Given the description of an element on the screen output the (x, y) to click on. 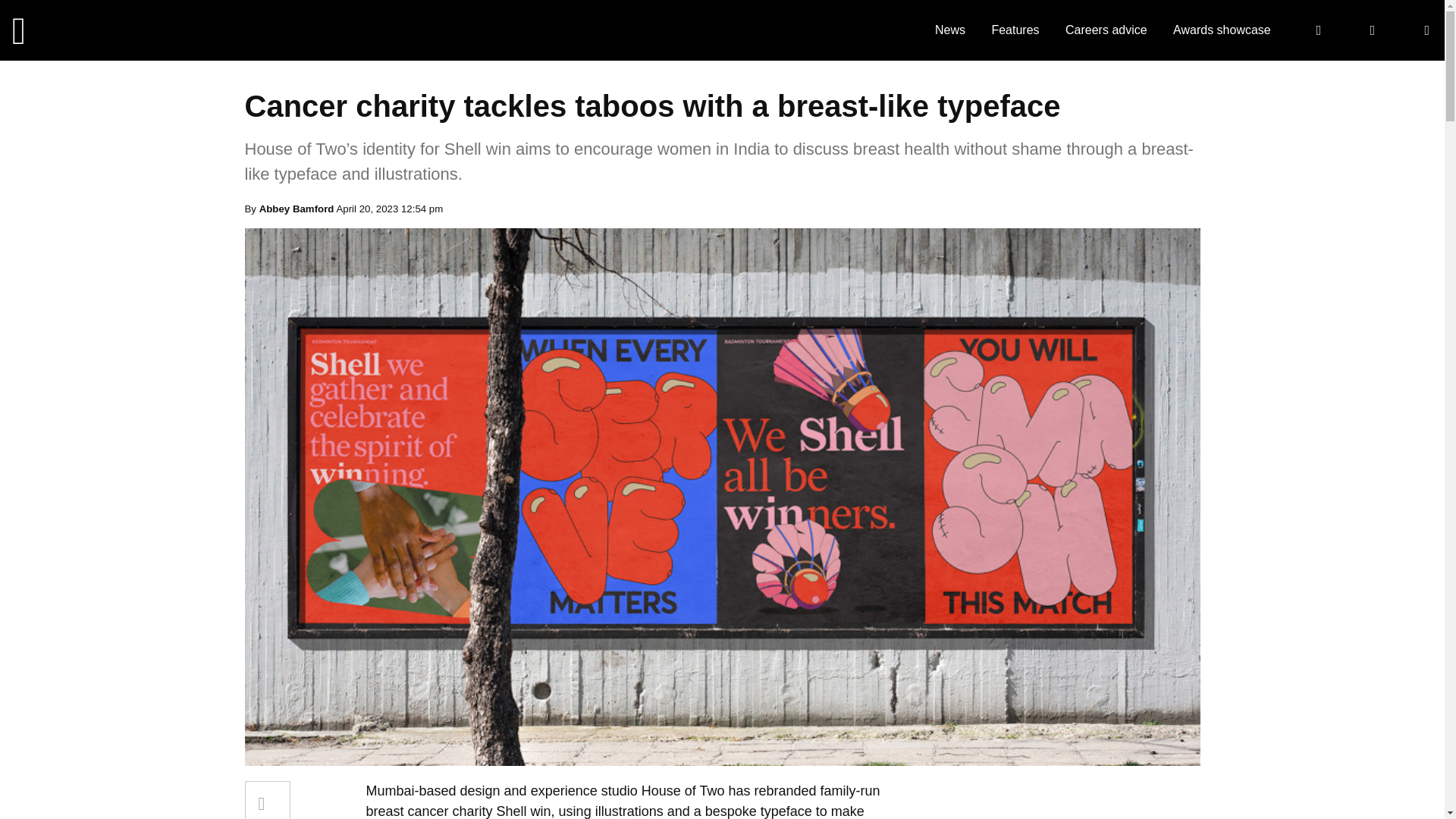
Awards showcase (1222, 29)
Abbey Bamford (296, 208)
Posts by Abbey Bamford (296, 208)
Careers advice (1106, 29)
News (949, 29)
Features (1015, 29)
